Given the description of an element on the screen output the (x, y) to click on. 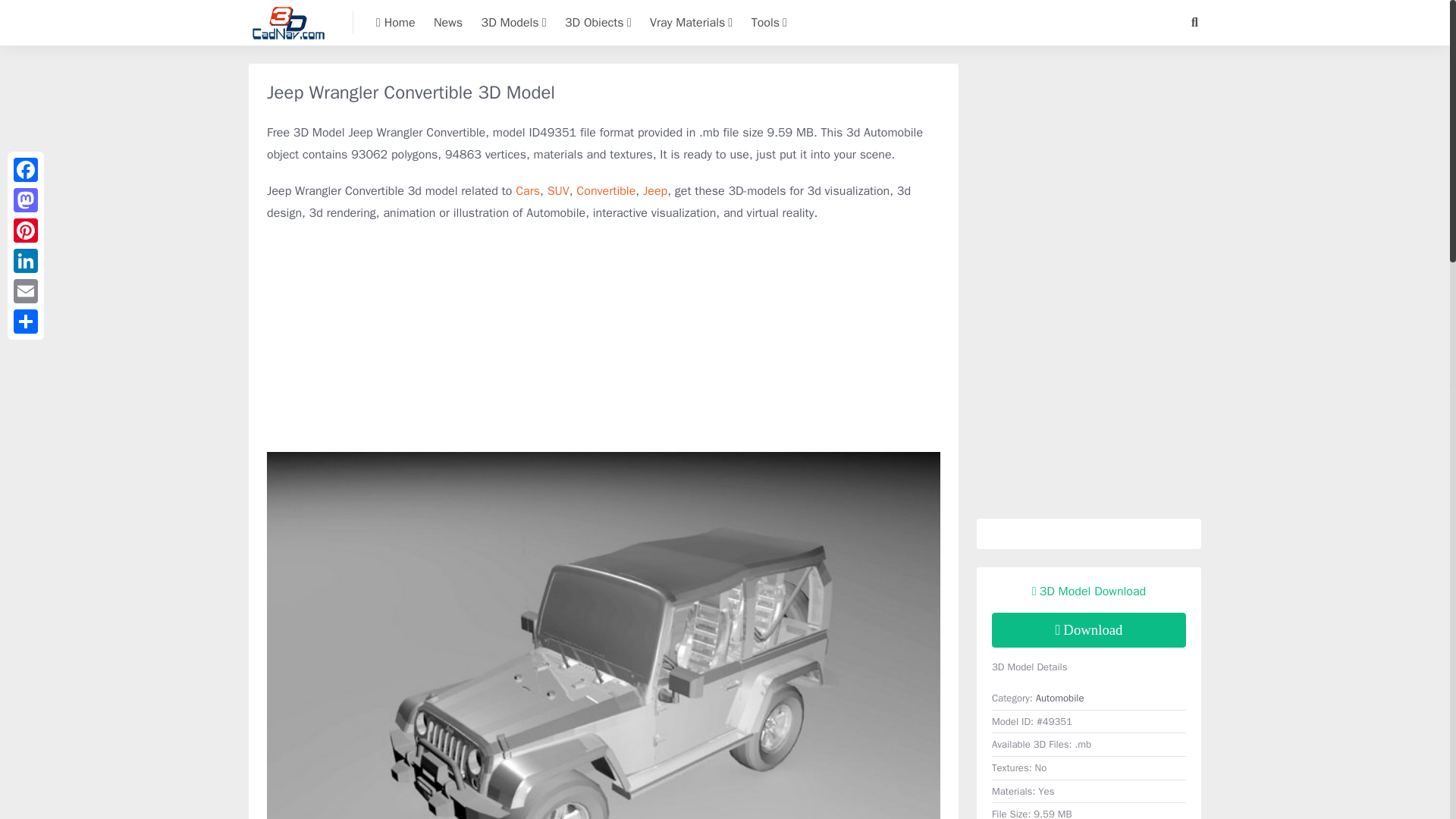
Cars 3d model (527, 191)
3D Obiects (597, 22)
Convertible 3d model (605, 191)
download Jeep Wrangler Convertible 3d model (1088, 629)
Jeep 3d model (654, 191)
3D Models (514, 22)
SUV 3d model (558, 191)
